Given the description of an element on the screen output the (x, y) to click on. 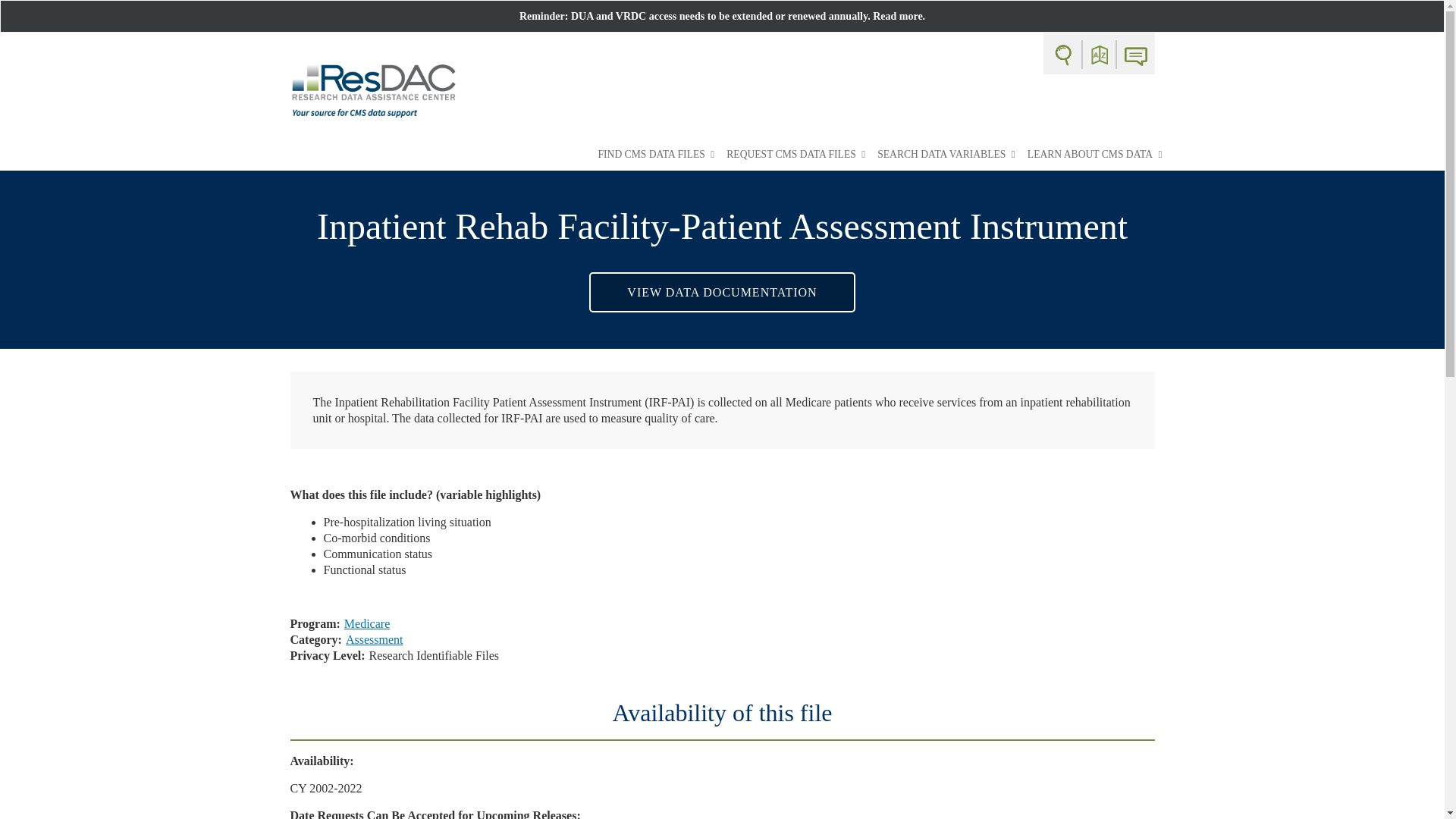
Home (373, 90)
Medicare (366, 623)
Search (1075, 53)
LEARN ABOUT CMS DATA (1094, 155)
FIND CMS DATA FILES (655, 155)
REQUEST CMS DATA FILES (795, 155)
SEARCH DATA VARIABLES (945, 155)
Enter the terms you wish to search for. (1062, 55)
A-Z Glossary (1099, 54)
Assessment (374, 639)
VIEW DATA DOCUMENTATION (721, 291)
Search (1075, 53)
Contact Us (1135, 55)
